Given the description of an element on the screen output the (x, y) to click on. 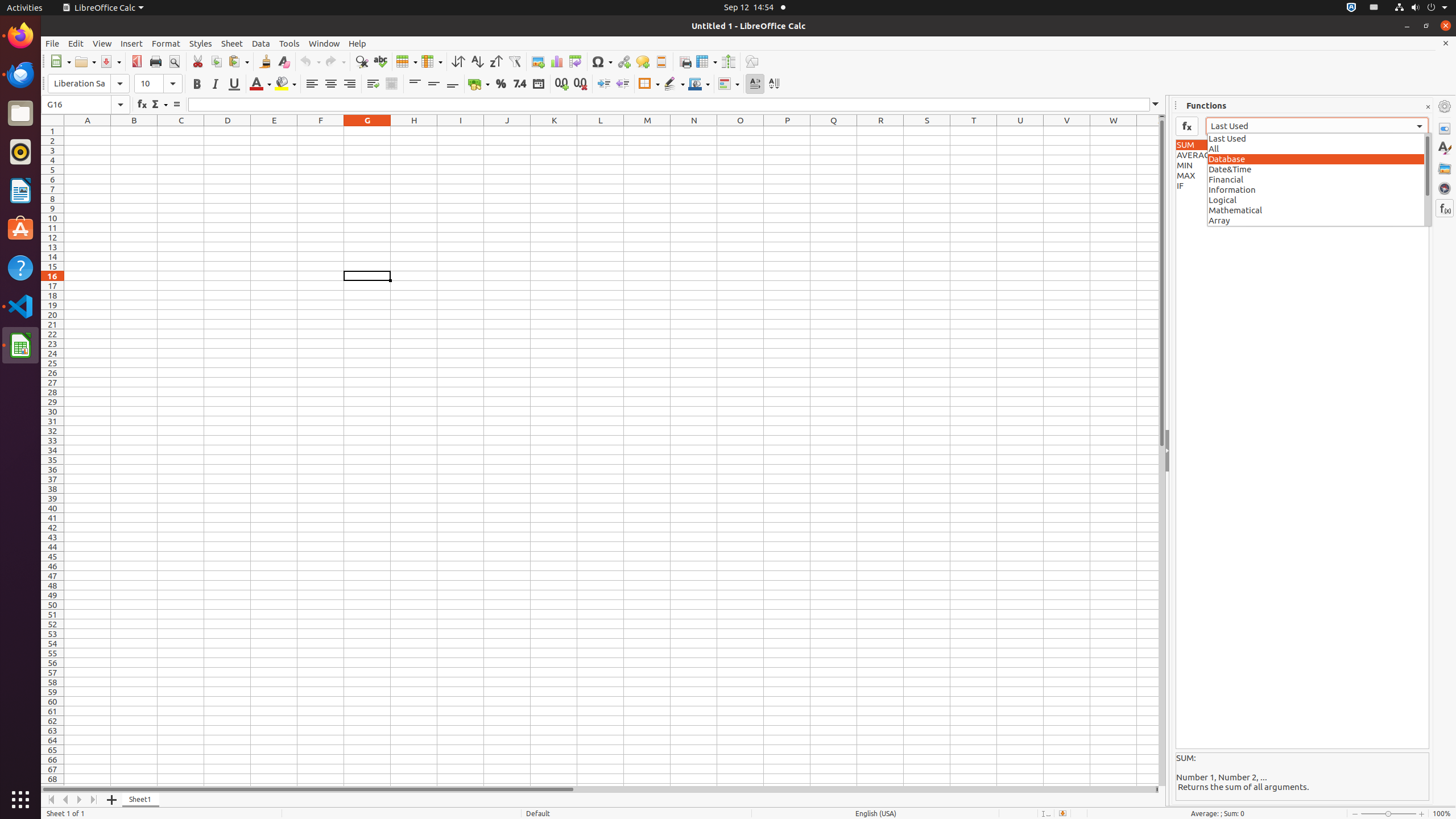
Align Right Element type: push-button (349, 83)
Information Element type: list-item (1319, 189)
Data Element type: menu (260, 43)
Find & Replace Element type: toggle-button (361, 61)
W1 Element type: table-cell (1113, 130)
